Given the description of an element on the screen output the (x, y) to click on. 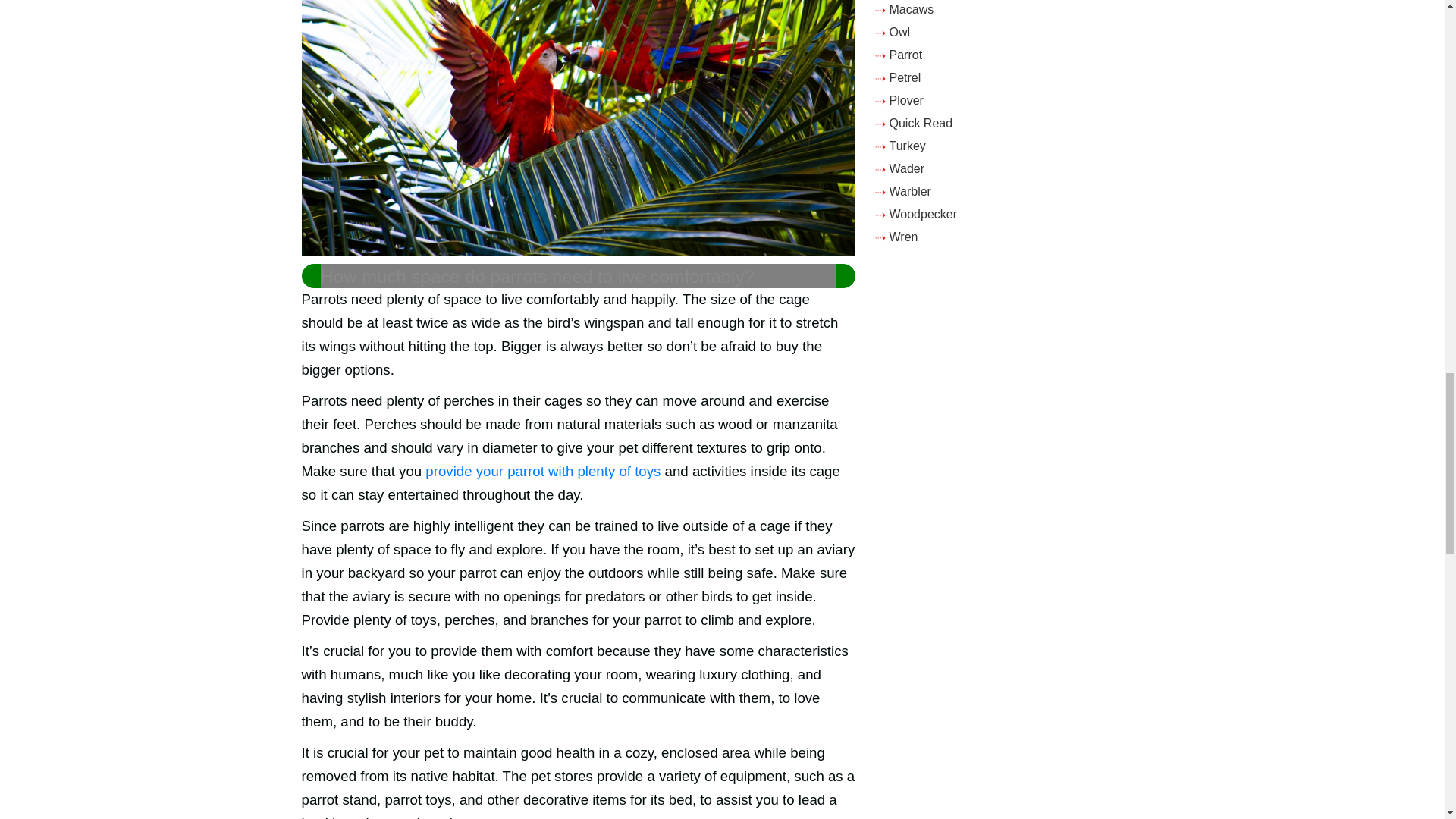
provide your parrot with plenty of toys (543, 471)
